Given the description of an element on the screen output the (x, y) to click on. 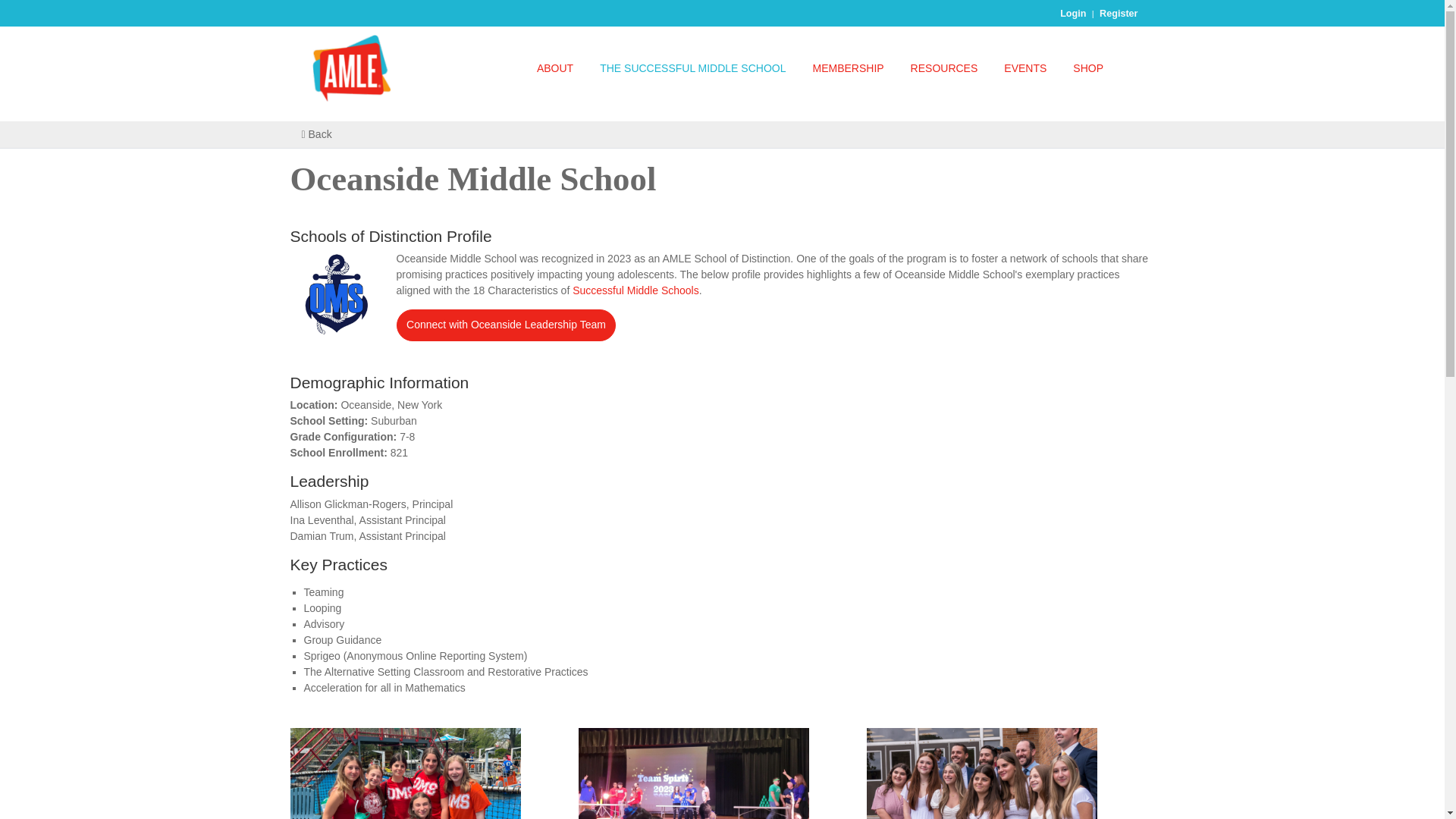
Login (1072, 13)
 Back (316, 133)
SHOP (1087, 68)
AMLE (351, 67)
Register (1118, 13)
Login (1072, 13)
Register (1118, 13)
